Given the description of an element on the screen output the (x, y) to click on. 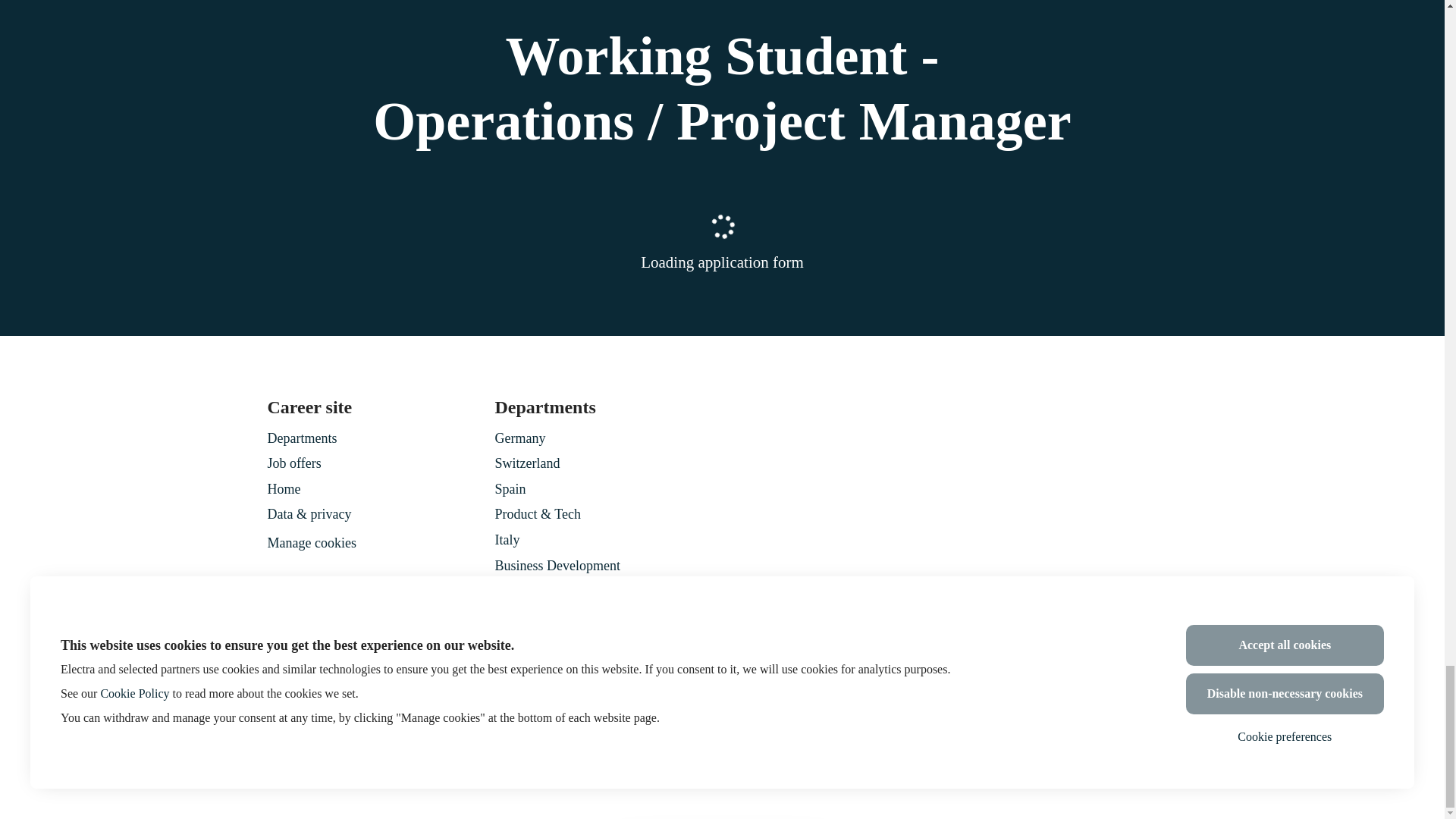
All departments (537, 590)
Home (282, 488)
Employee login (304, 682)
Change language (1149, 682)
Job offers (293, 463)
Business Development (557, 565)
Manage cookies (310, 543)
Departments (301, 437)
Spain (510, 488)
Switzerland (527, 463)
Italy (507, 539)
Germany (519, 437)
